Given the description of an element on the screen output the (x, y) to click on. 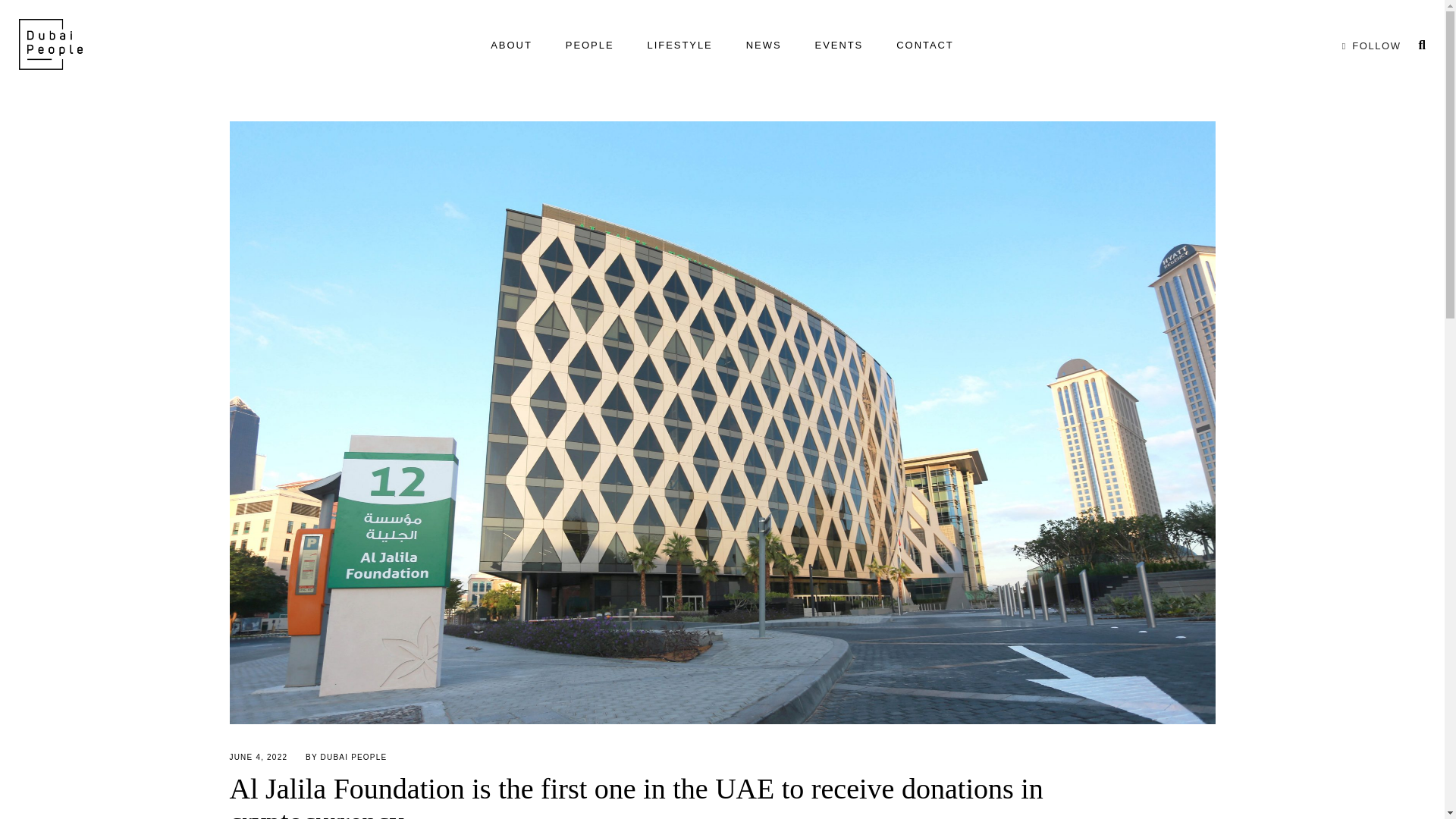
NEWS (763, 45)
EVENTS (838, 45)
DUBAI PEOPLE (353, 756)
JUNE 4, 2022 (257, 756)
FOLLOW (1368, 45)
LIFESTYLE (679, 45)
PEOPLE (589, 45)
ABOUT (511, 45)
CONTACT (925, 45)
